Given the description of an element on the screen output the (x, y) to click on. 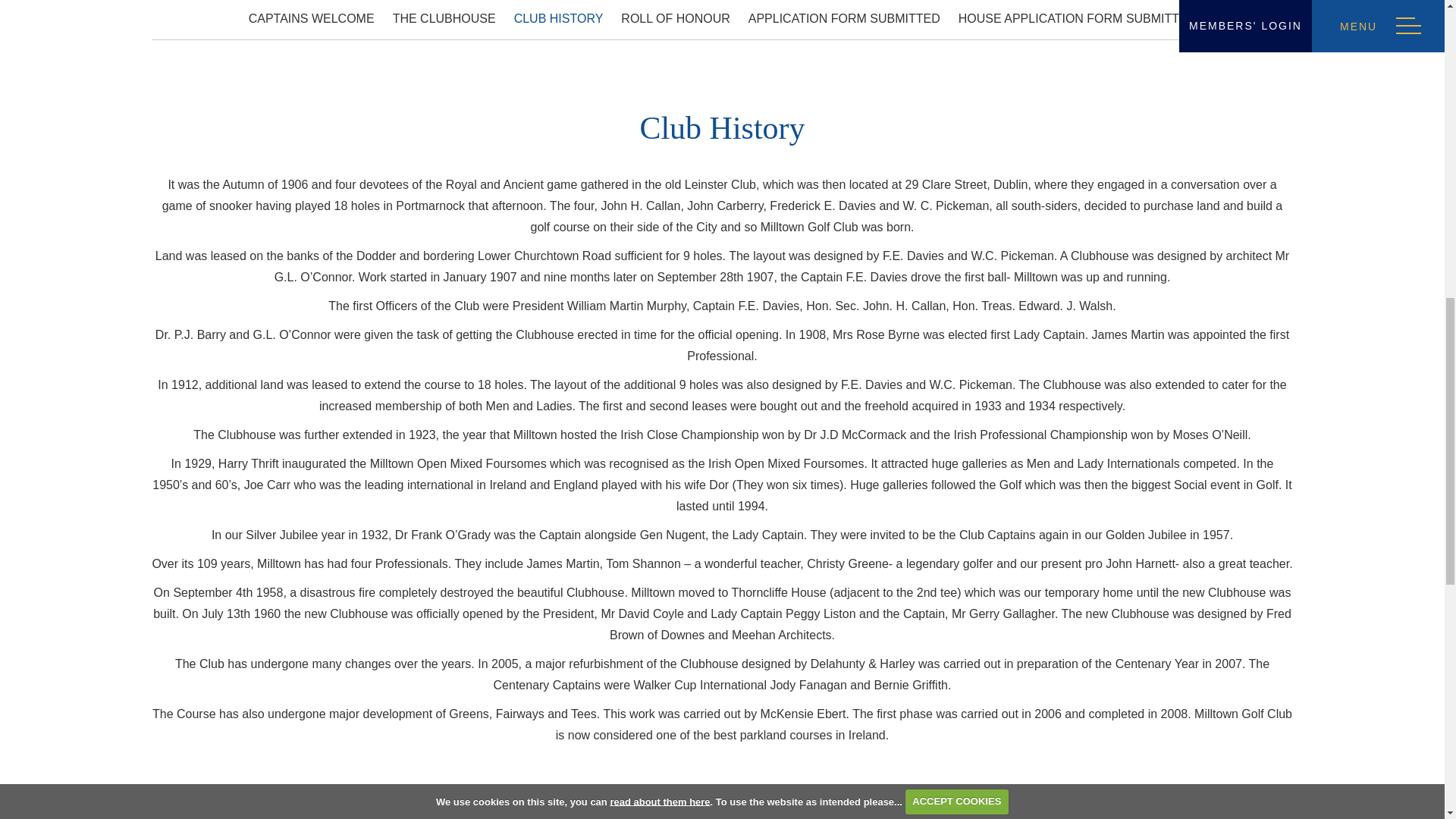
HOUSE APPLICATION FORM SUBMITTED (1077, 18)
THE CLUBHOUSE (444, 18)
CLUB HISTORY (558, 18)
CAPTAINS WELCOME (311, 18)
ROLL OF HONOUR (675, 18)
APPLICATION FORM SUBMITTED (844, 18)
